Given the description of an element on the screen output the (x, y) to click on. 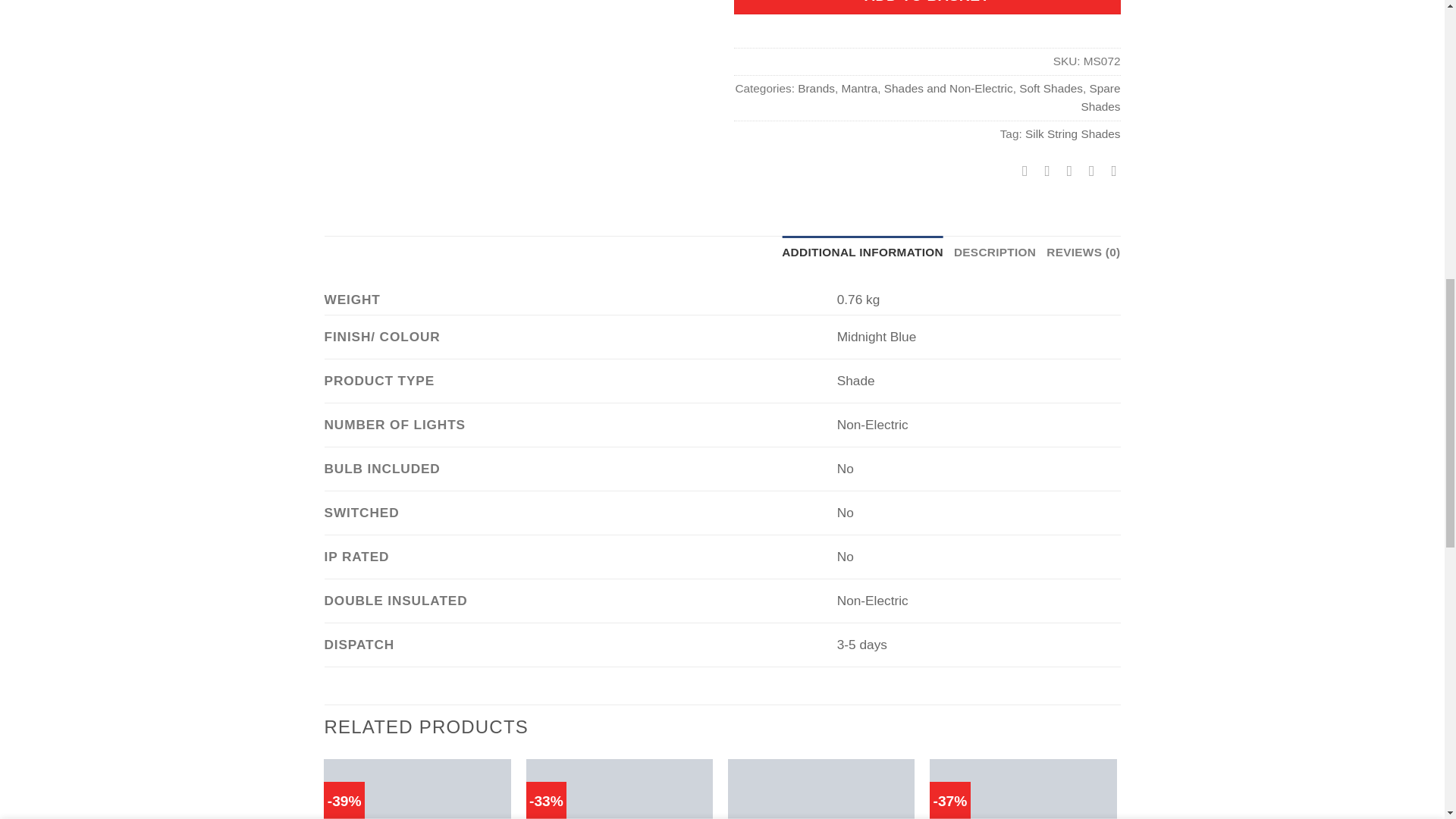
Email to a Friend (1064, 170)
Shades and Non-Electric (948, 88)
Share on Facebook (1020, 170)
Share on LinkedIn (1109, 170)
Share on Twitter (1042, 170)
Mantra (859, 88)
Silk String Shades (1073, 133)
Brands (815, 88)
Pin on Pinterest (1087, 170)
